Given the description of an element on the screen output the (x, y) to click on. 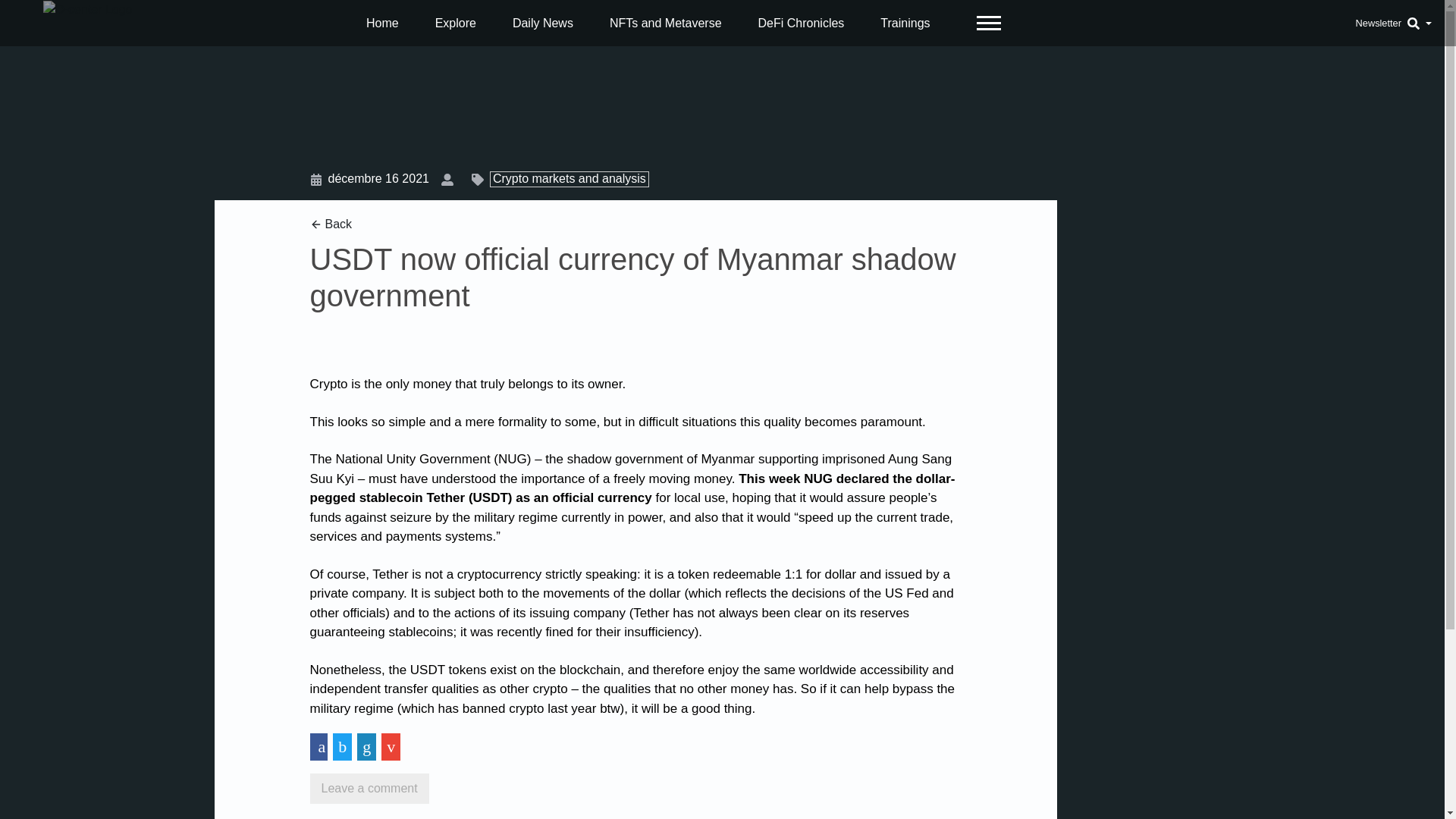
Crypto markets and analysis (566, 178)
Explore (455, 22)
DeFi Chronicles (801, 22)
Daily News (542, 22)
Leave a comment (368, 788)
Trainings (905, 22)
Home (382, 22)
NFTs and Metaverse (666, 22)
Newsletter (1377, 22)
